Given the description of an element on the screen output the (x, y) to click on. 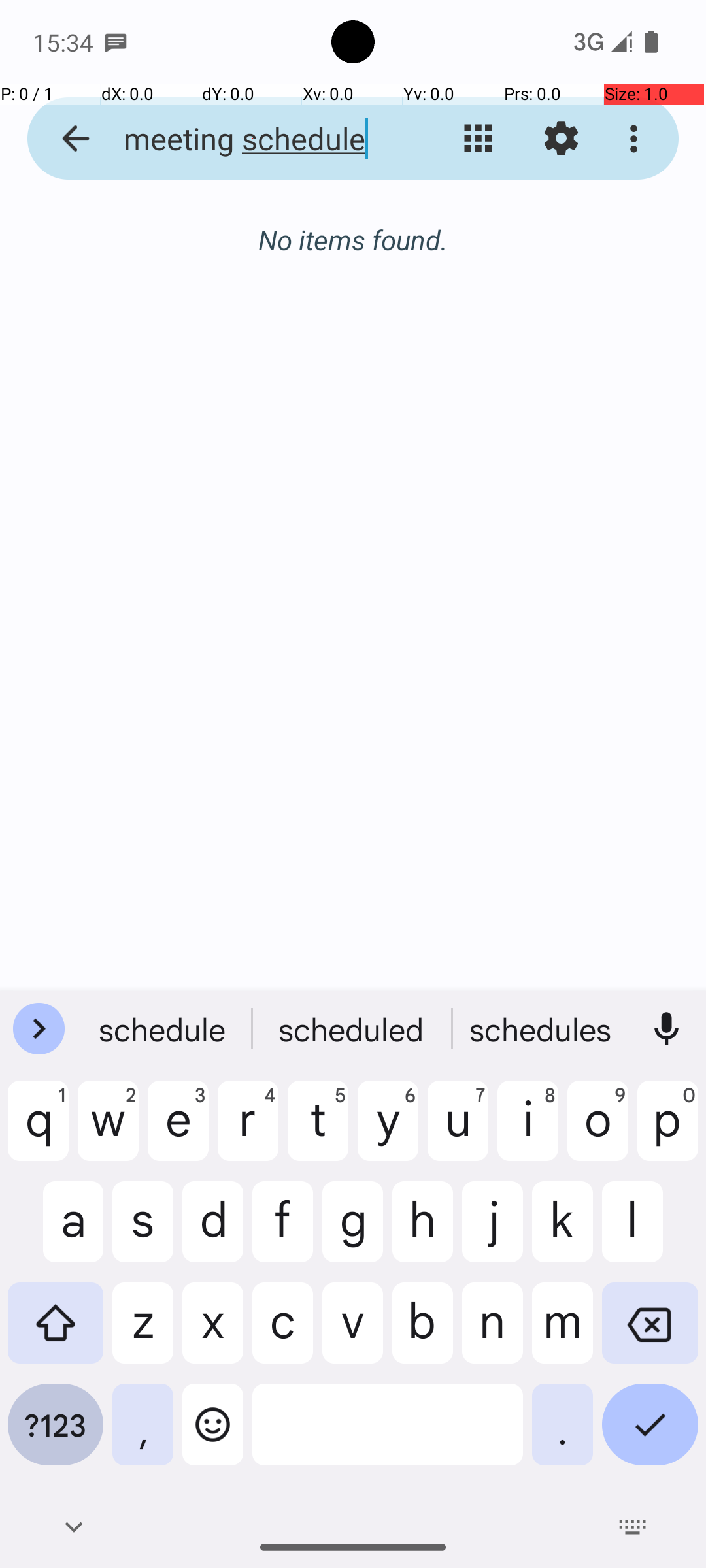
meeting schedule Element type: android.widget.EditText (252, 138)
schedule Element type: android.widget.FrameLayout (163, 1028)
scheduled Element type: android.widget.FrameLayout (352, 1028)
